Given the description of an element on the screen output the (x, y) to click on. 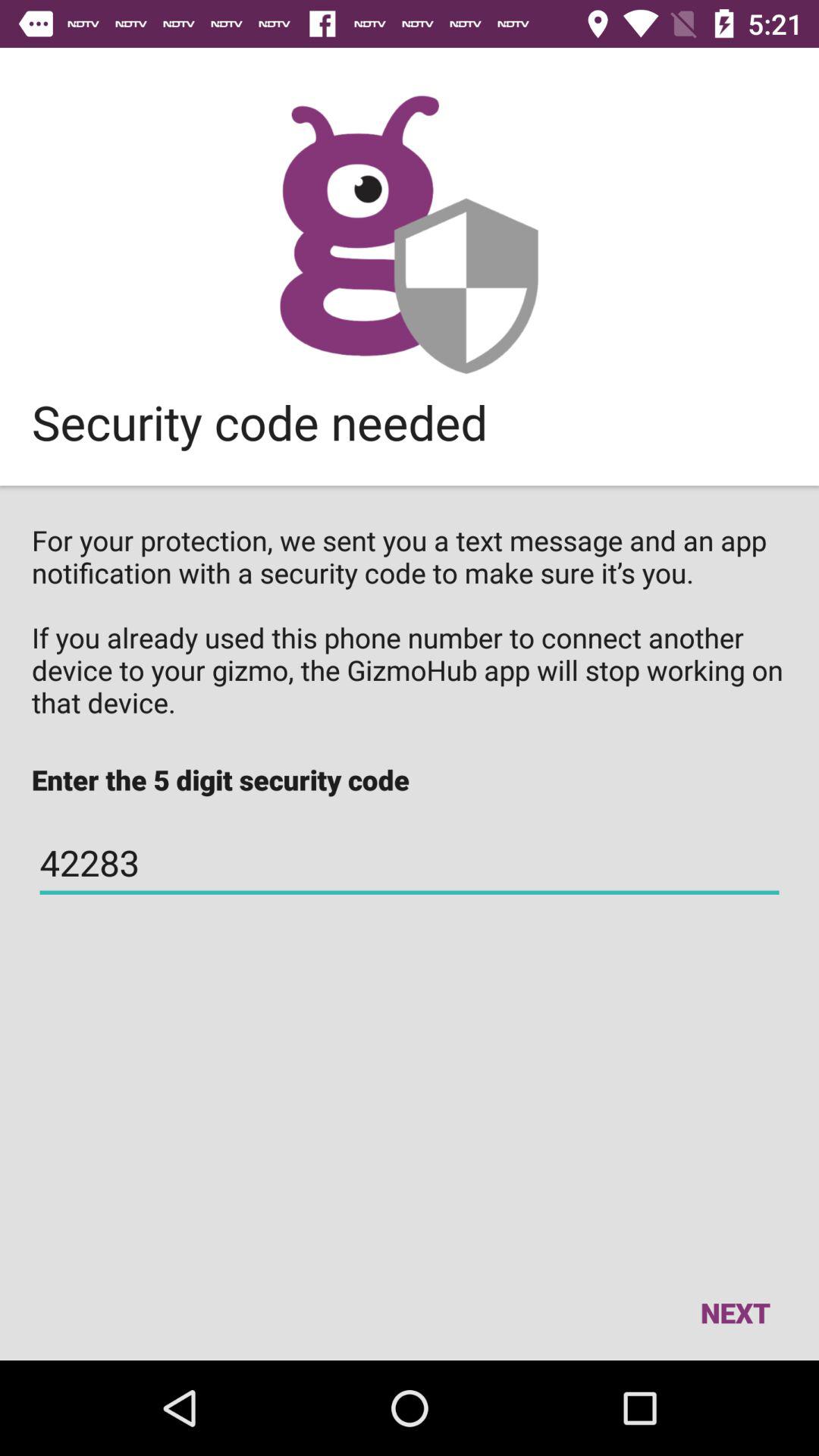
turn on 42283 (409, 863)
